Given the description of an element on the screen output the (x, y) to click on. 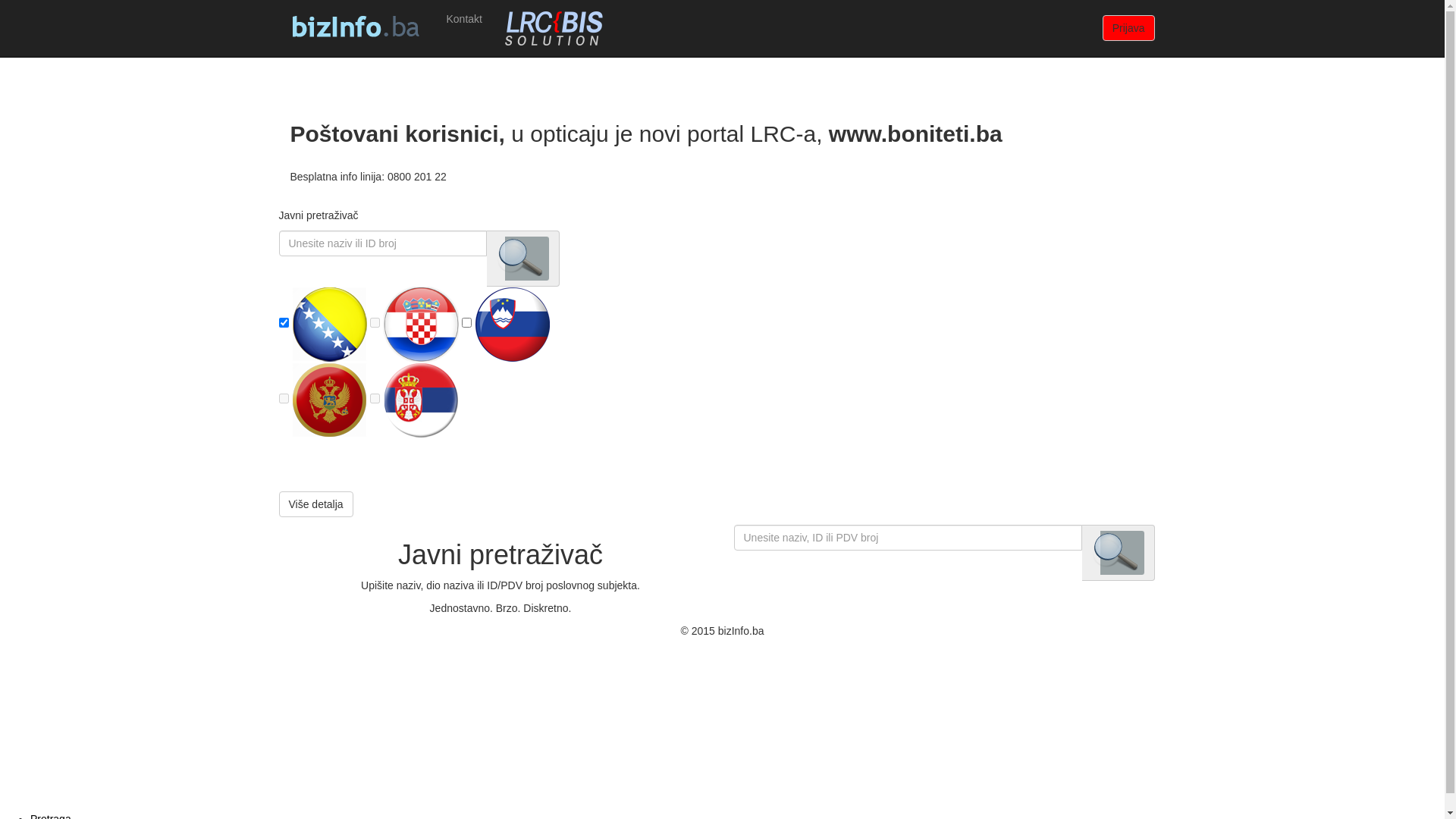
Kontakt Element type: text (464, 18)
Prijava Element type: text (1128, 27)
